Given the description of an element on the screen output the (x, y) to click on. 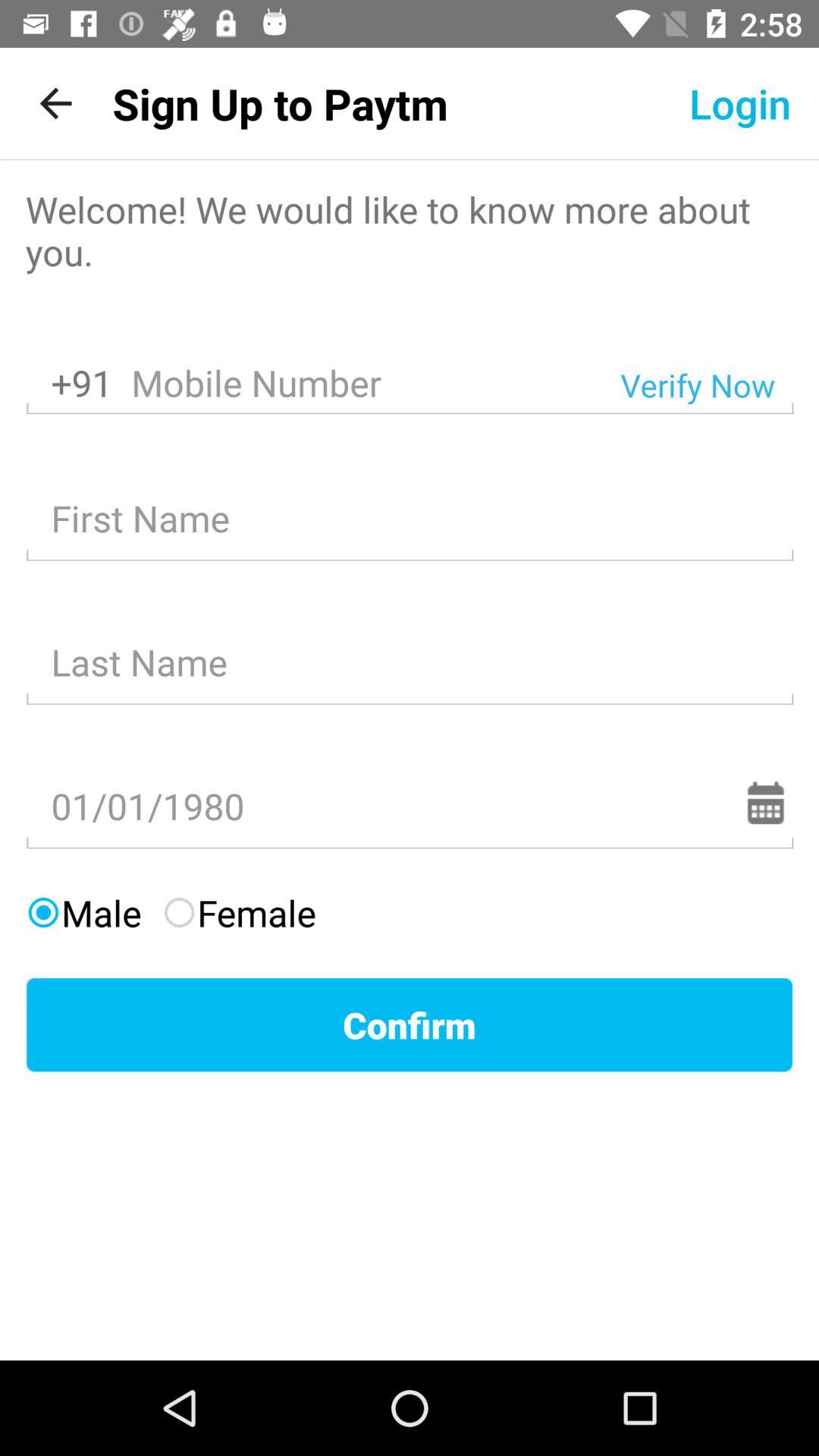
press item to the left of the verify now  item (367, 384)
